Given the description of an element on the screen output the (x, y) to click on. 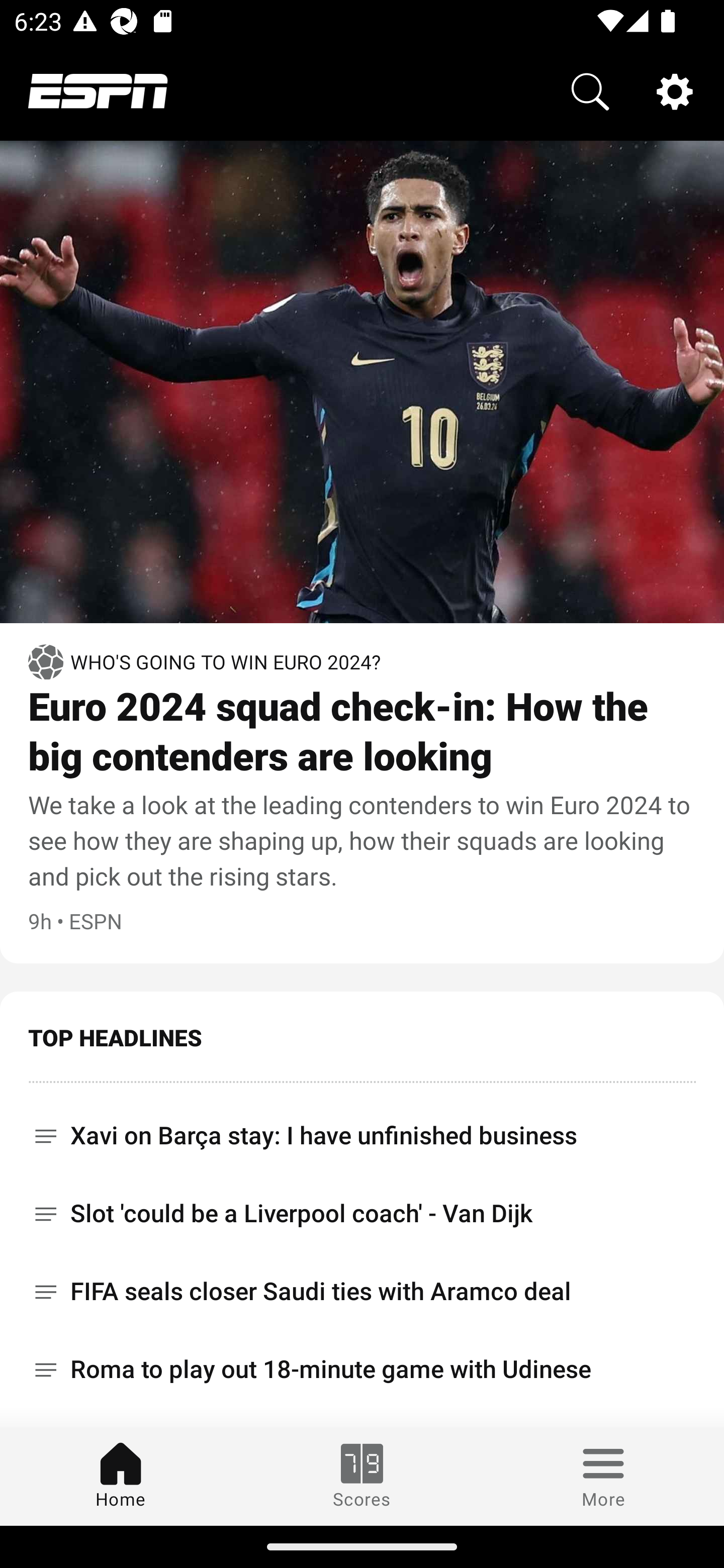
Search (590, 90)
Settings (674, 90)
 Xavi on Barça stay: I have unfinished business (362, 1128)
 Slot 'could be a Liverpool coach' - Van Dijk (362, 1213)
 FIFA seals closer Saudi ties with Aramco deal (362, 1291)
 Roma to play out 18-minute game with Udinese (362, 1369)
Scores (361, 1475)
More (603, 1475)
